Given the description of an element on the screen output the (x, y) to click on. 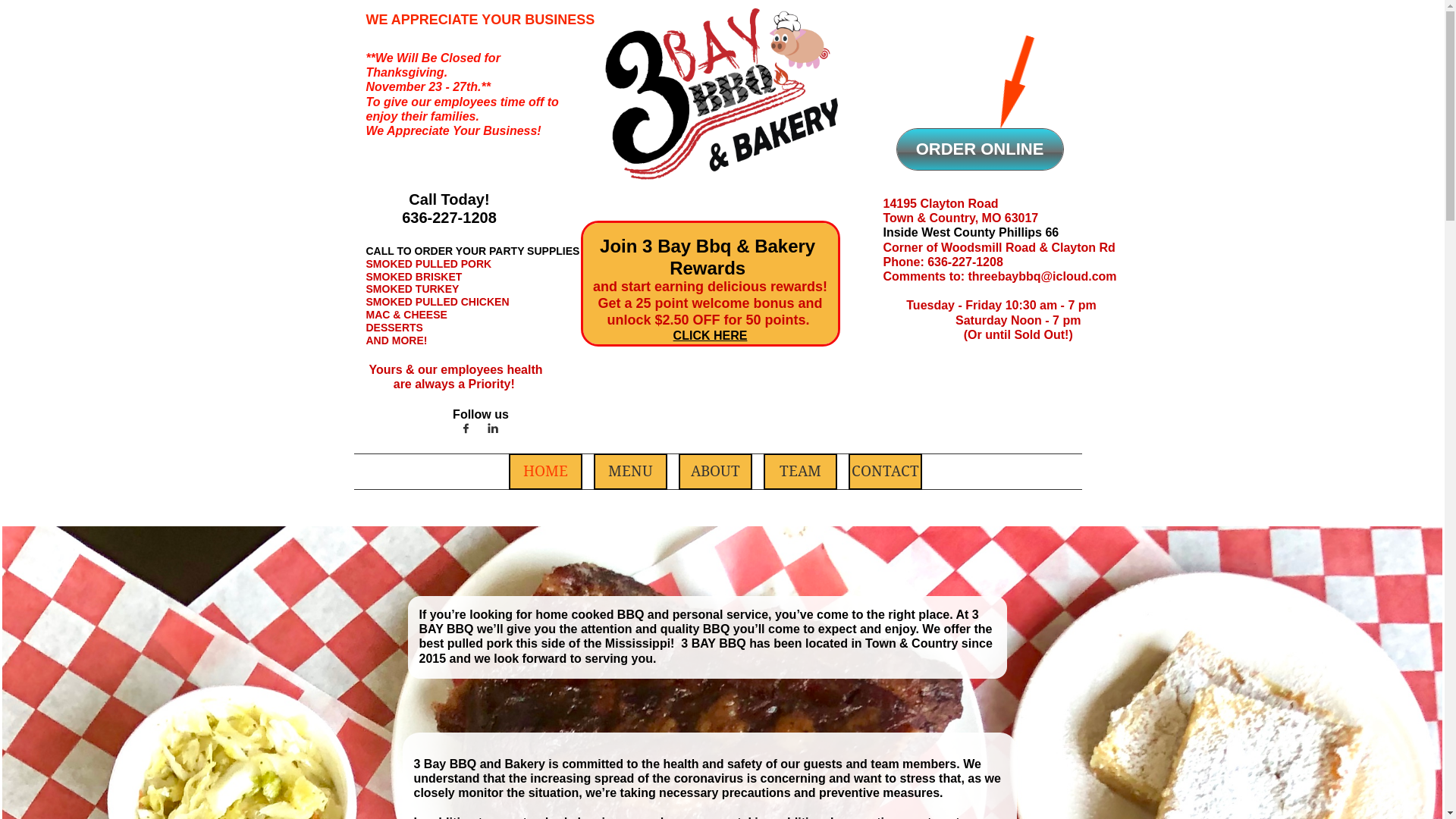
CLICK HERE Element type: text (710, 335)
CONTACT Element type: text (885, 471)
MENU Element type: text (630, 471)
ORDER ONLINE Element type: text (979, 149)
TEAM Element type: text (800, 471)
ABOUT Element type: text (715, 471)
HOME Element type: text (545, 471)
